Given the description of an element on the screen output the (x, y) to click on. 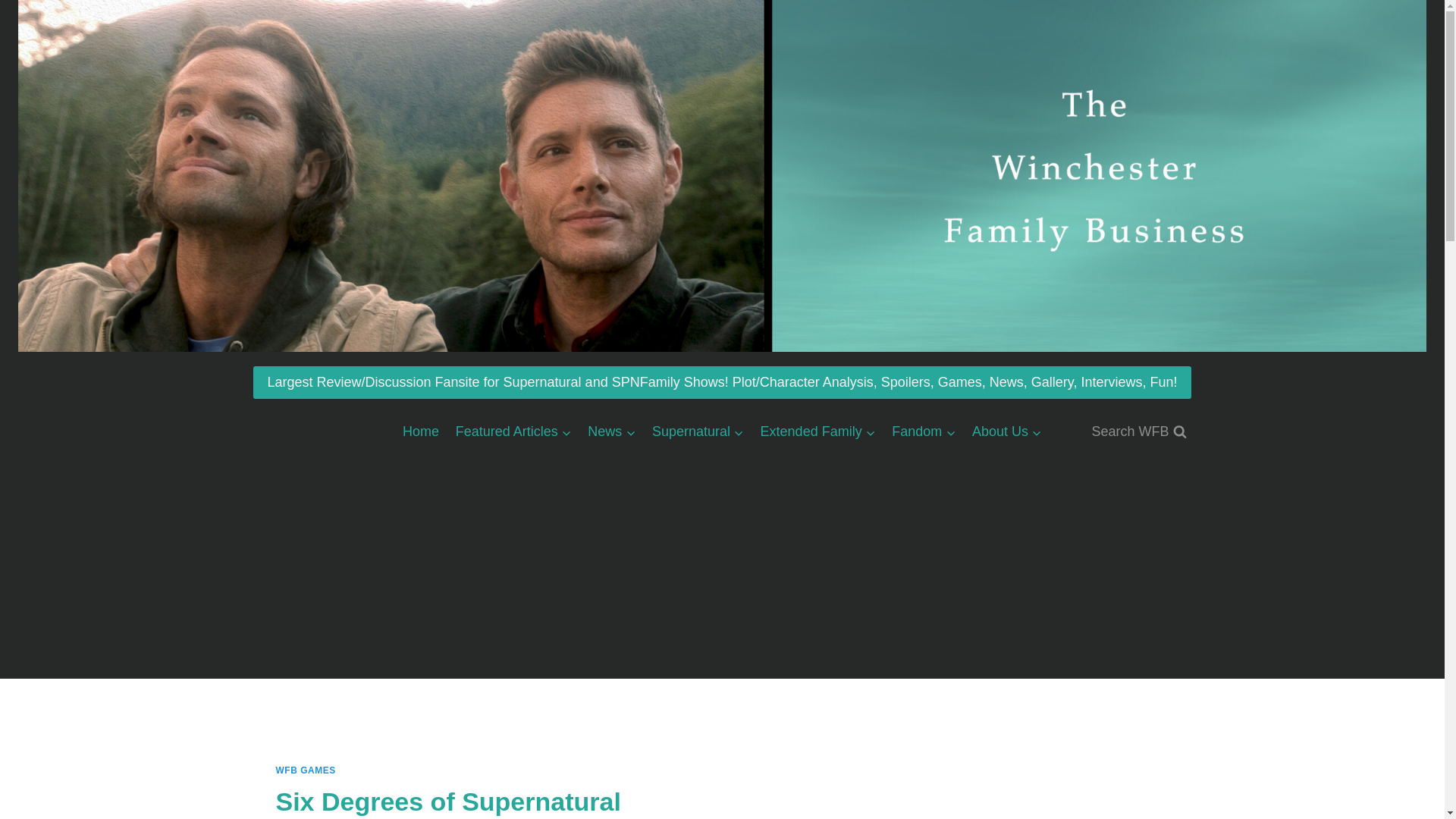
About Us (1006, 431)
News (612, 431)
Fandom (923, 431)
Home (420, 431)
Extended Family (817, 431)
Featured Articles (512, 431)
WFB GAMES (306, 769)
Search WFB (1138, 431)
Supernatural (697, 431)
